Given the description of an element on the screen output the (x, y) to click on. 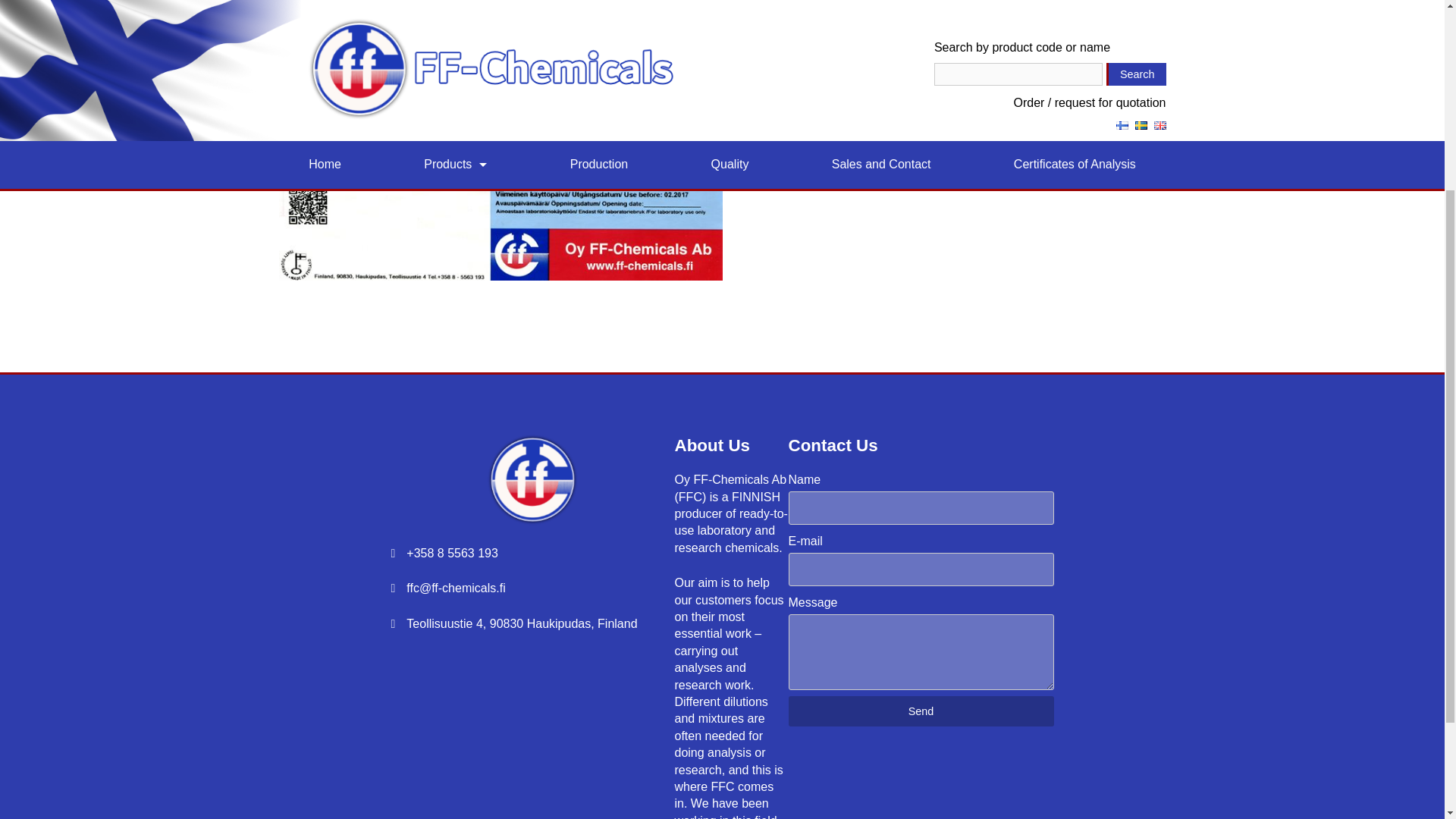
Send (921, 711)
Send (921, 711)
Ask for price (808, 165)
Ask for price (808, 164)
